Given the description of an element on the screen output the (x, y) to click on. 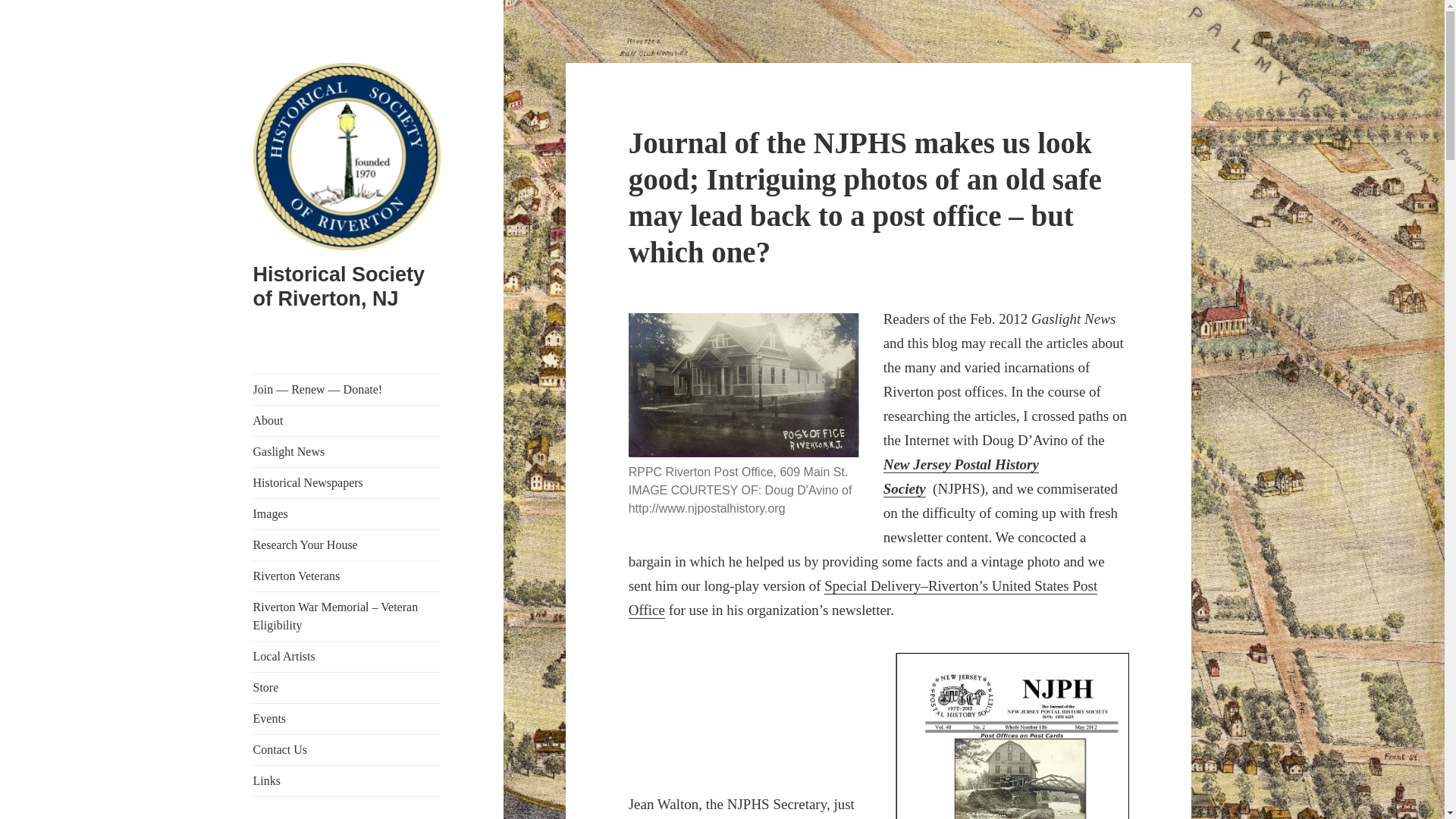
Riverton post office 609 Main (743, 384)
Store (347, 687)
Riverton Veterans (347, 576)
Historical Newspapers (347, 482)
New Jersey Postal History Society (961, 476)
Images (347, 513)
Contact Us (347, 749)
Events (347, 718)
Research Your House (347, 544)
Local Artists (347, 656)
Historical Society of Riverton, NJ (339, 286)
About (347, 420)
NJPHS journal image (1012, 735)
Gaslight News (347, 451)
Links (347, 780)
